Given the description of an element on the screen output the (x, y) to click on. 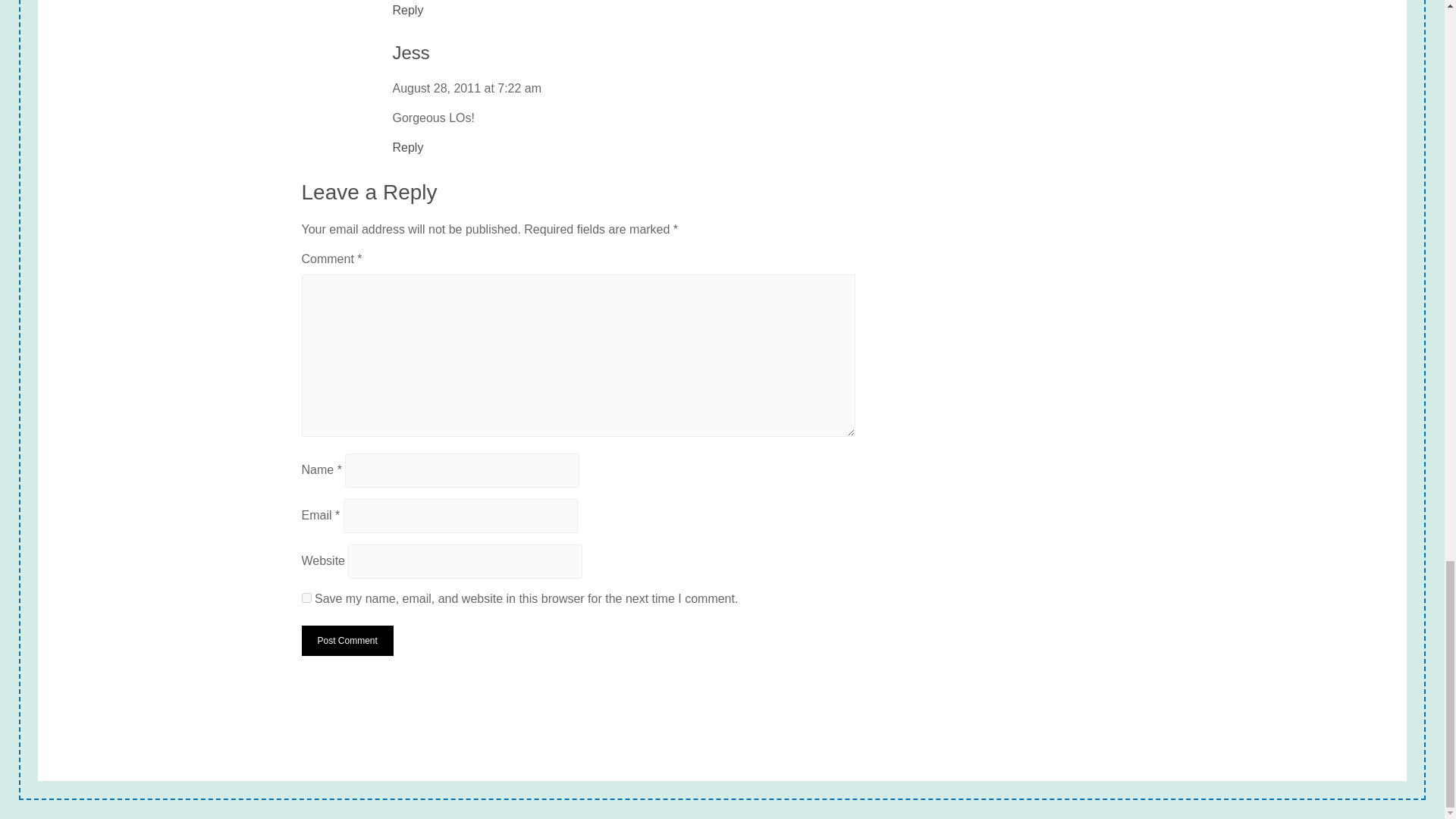
Reply (408, 10)
Reply (408, 147)
Jess (411, 53)
Post Comment (347, 640)
yes (306, 597)
Post Comment (347, 640)
